Given the description of an element on the screen output the (x, y) to click on. 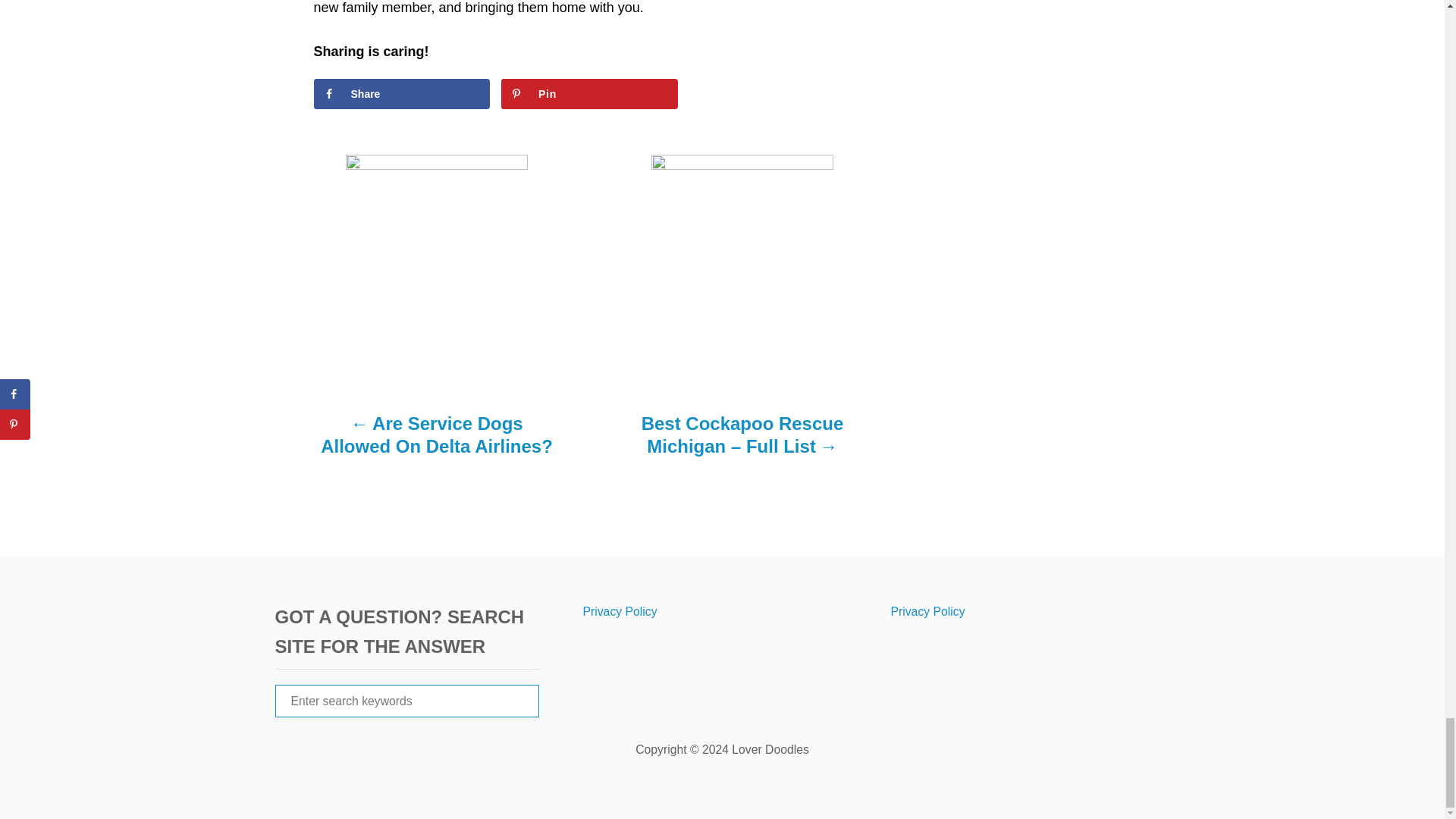
Pin (589, 93)
Are Service Dogs Allowed On Delta Airlines? (437, 442)
Search for: (406, 700)
Share (402, 93)
Share on Facebook (402, 93)
Save to Pinterest (589, 93)
